Given the description of an element on the screen output the (x, y) to click on. 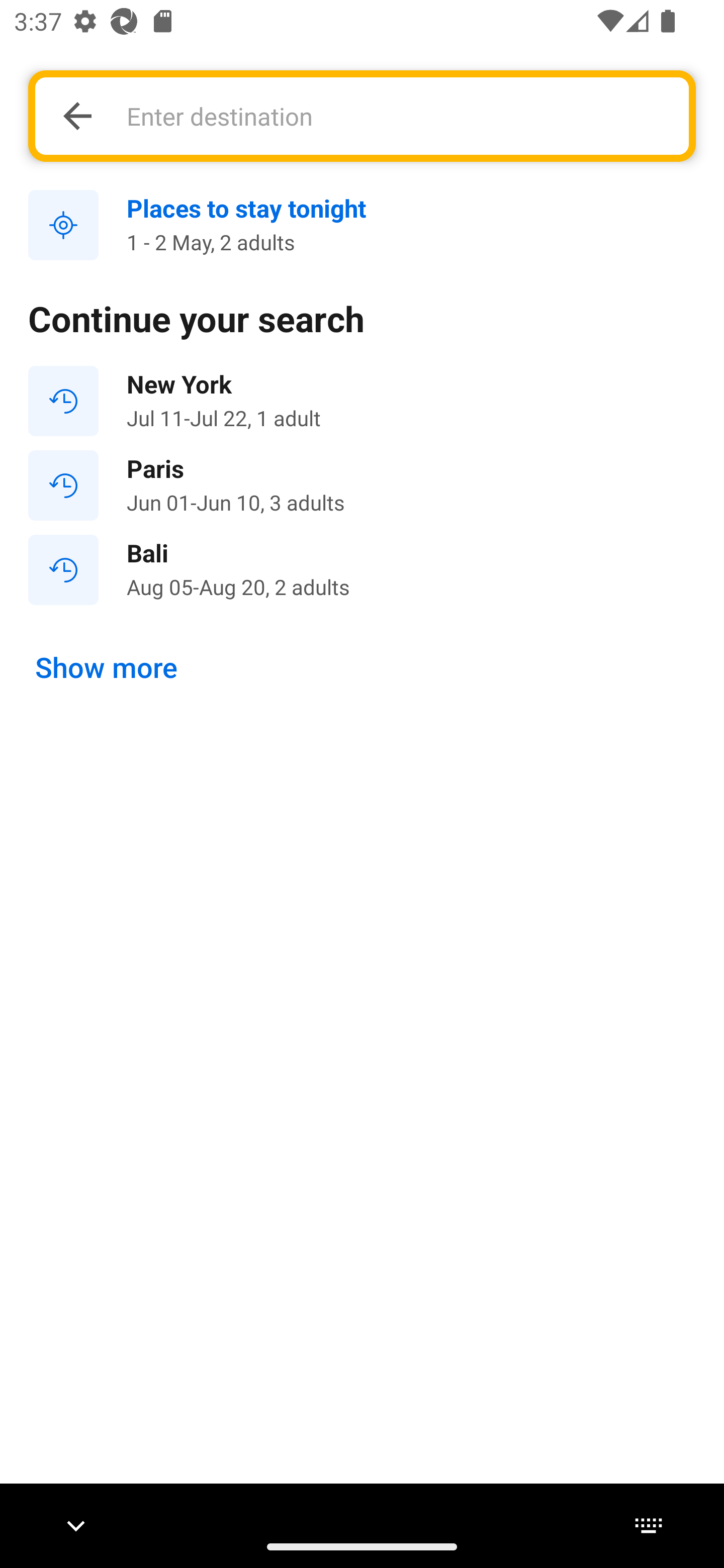
Enter destination (396, 115)
Places to stay tonight 1 - 2 May, 2 adults (362, 225)
New York Jul 11-Jul 22, 1 adult  (362, 401)
Paris Jun 01-Jun 10, 3 adults  (362, 485)
Bali Aug 05-Aug 20, 2 adults  (362, 569)
Show more (106, 667)
